Given the description of an element on the screen output the (x, y) to click on. 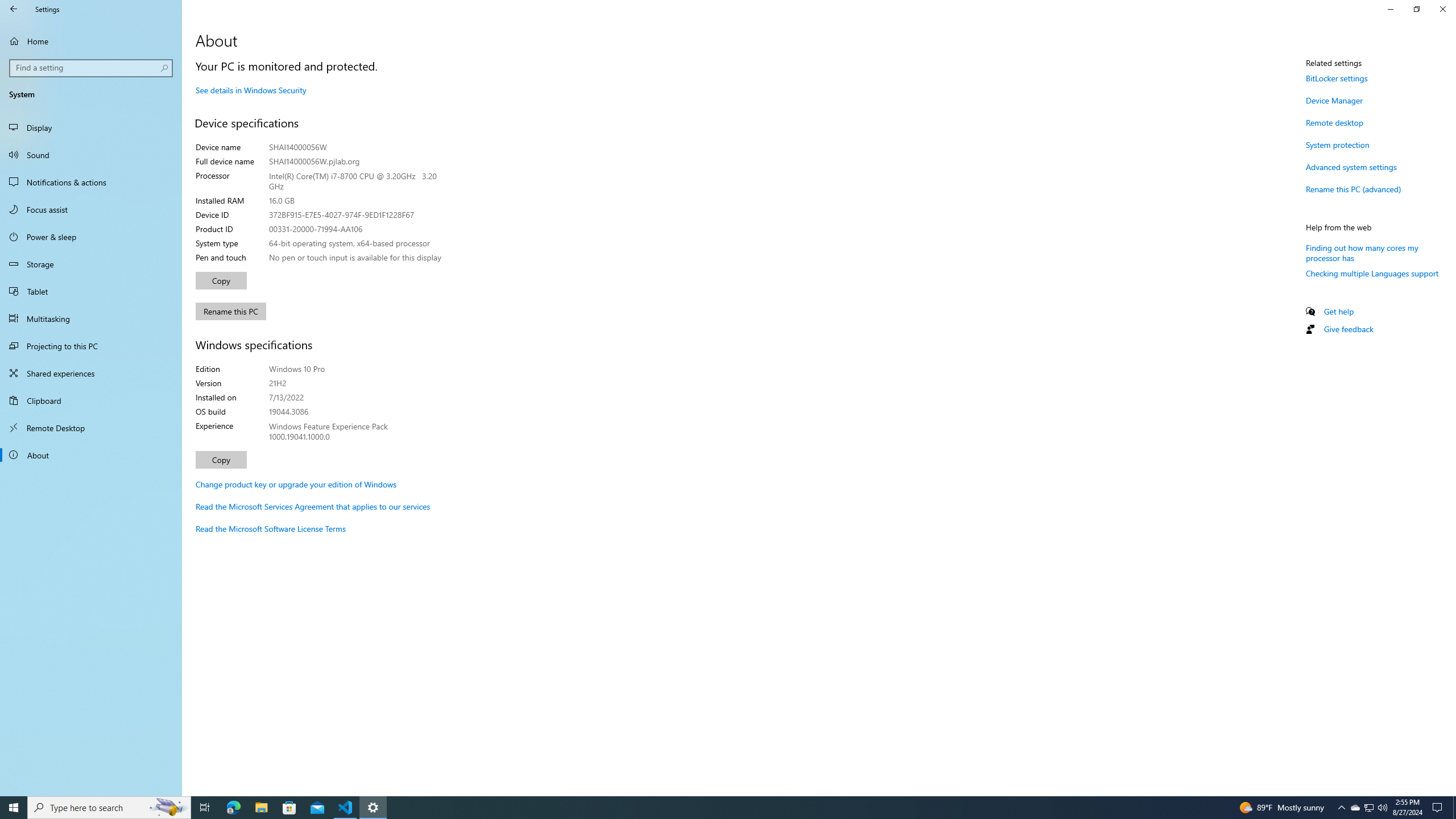
Device Manager (1334, 100)
Storage (91, 263)
Display (91, 126)
Change product key or upgrade your edition of Windows (296, 484)
Close Settings (1442, 9)
Advanced system settings (1351, 166)
Rename this PC (advanced) (1353, 188)
Remote Desktop (91, 427)
Get help (1338, 311)
